Given the description of an element on the screen output the (x, y) to click on. 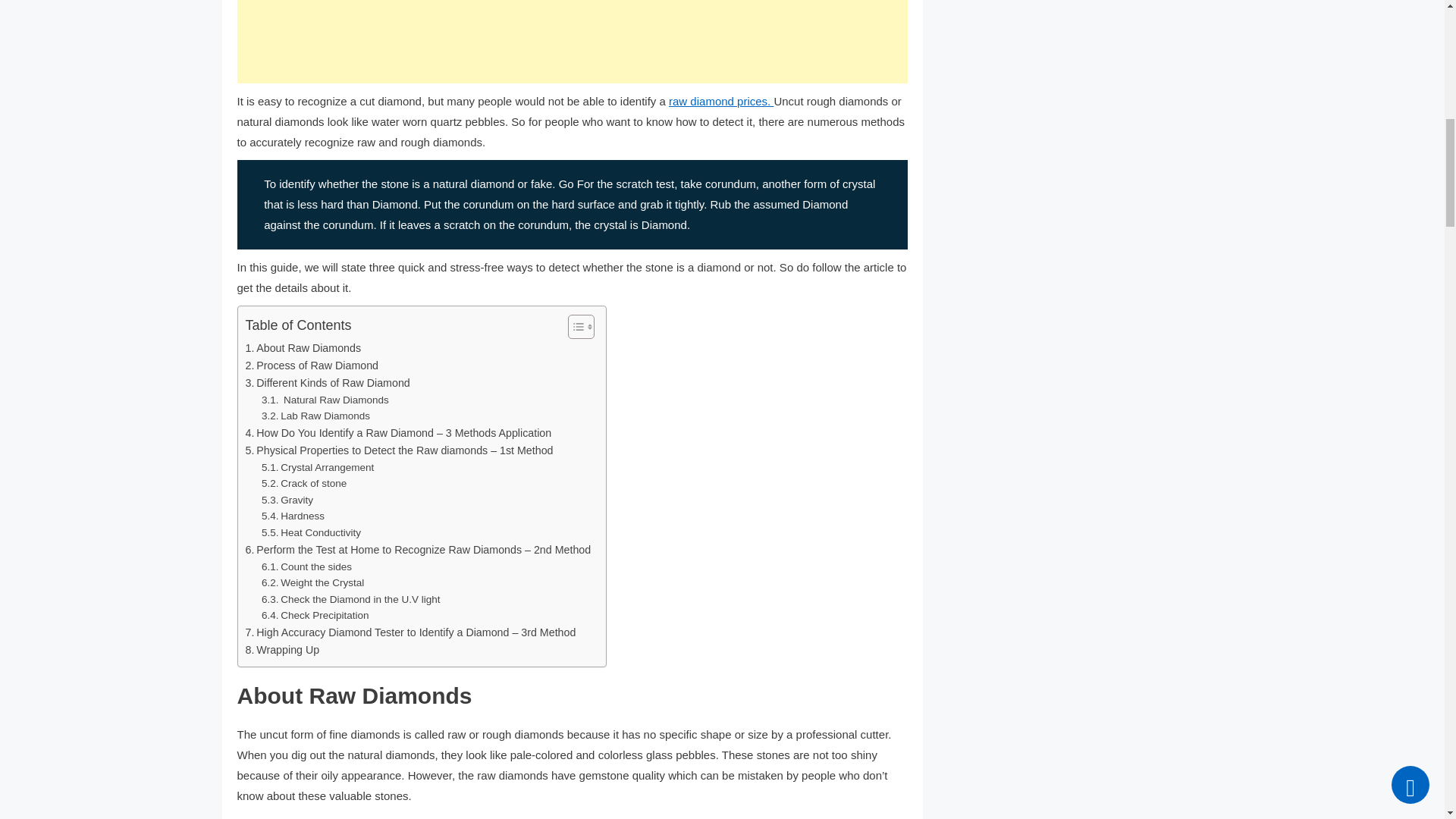
 Check the Diamond in the U.V light (351, 599)
About Raw Diamonds (303, 348)
Different Kinds of Raw Diamond (328, 383)
Crack of stone (304, 483)
Advertisement (571, 41)
 Check Precipitation (315, 615)
 Weight the Crystal (313, 582)
Process of Raw Diamond  (313, 365)
 Gravity (287, 500)
